Given the description of an element on the screen output the (x, y) to click on. 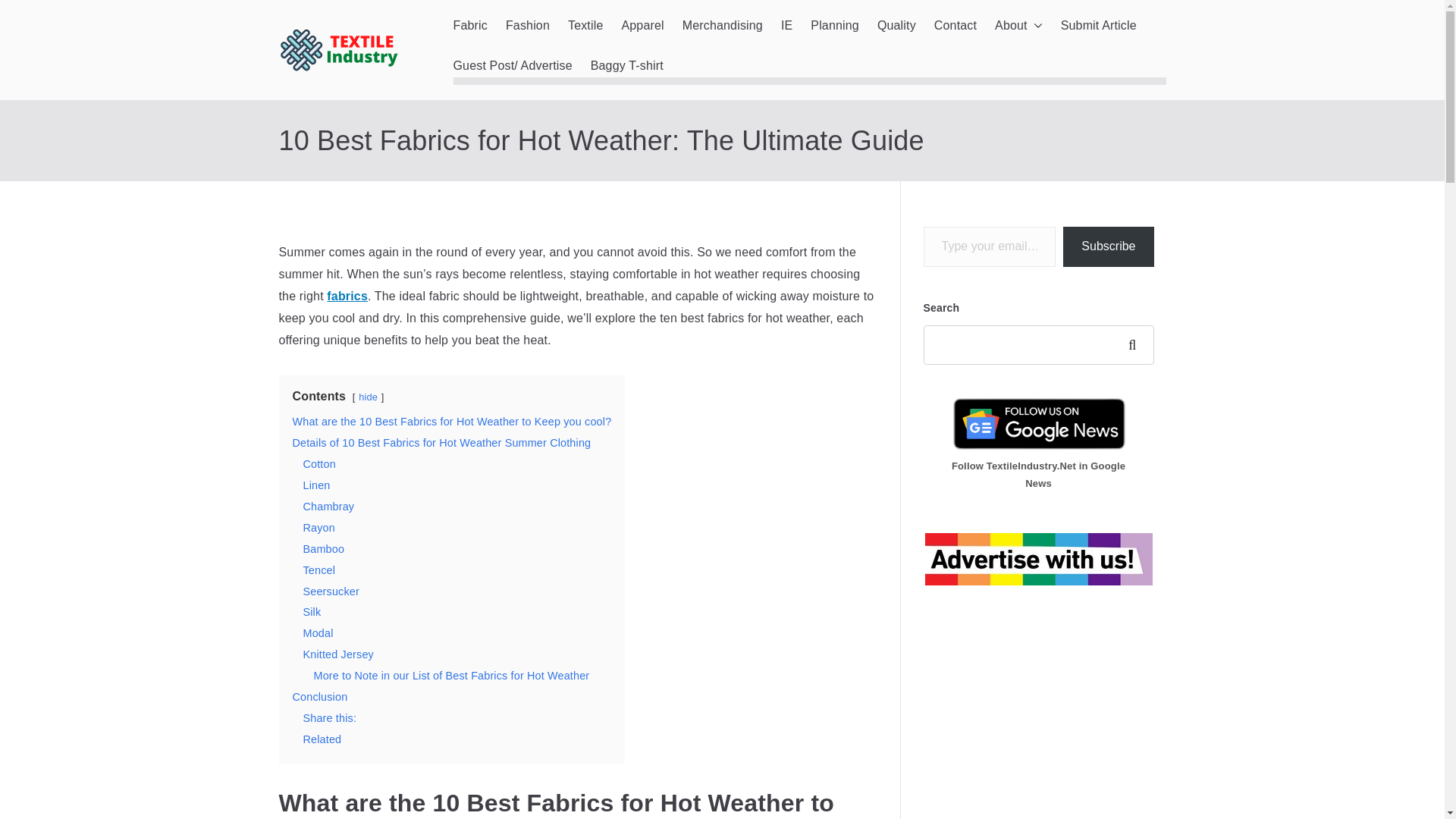
hide (367, 396)
Baggy T-shirt (627, 65)
Planning (834, 25)
About (1018, 25)
Details of 10 Best Fabrics for Hot Weather Summer Clothing (441, 442)
Cotton (319, 463)
Quality (896, 25)
Textile Industry (534, 69)
Contact (955, 25)
Textile (584, 25)
fabrics (347, 295)
Please fill in this field. (990, 246)
Merchandising (722, 25)
Apparel (642, 25)
